Given the description of an element on the screen output the (x, y) to click on. 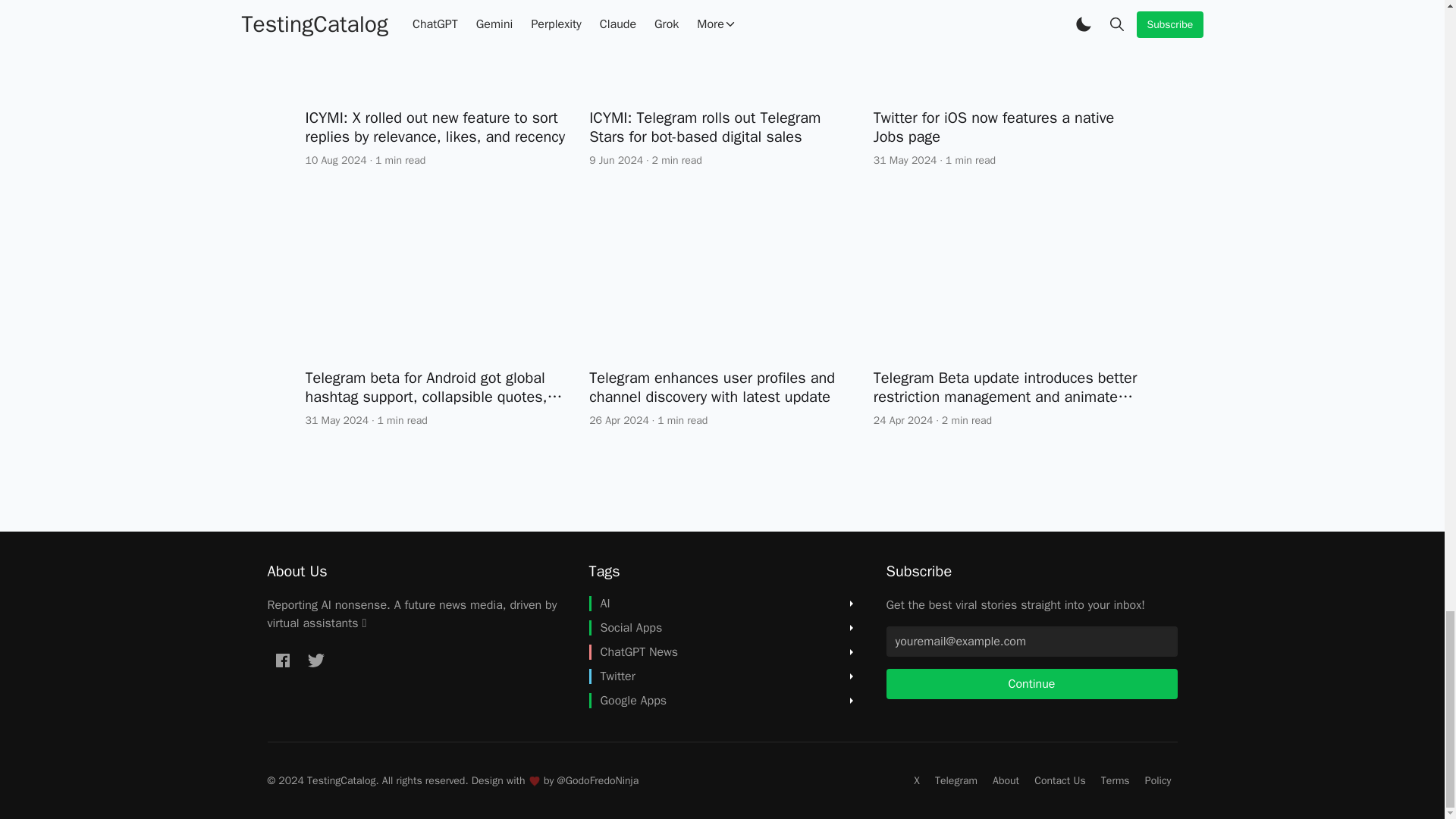
1 min read (400, 160)
Updated 10 Aug 2024 (335, 160)
Updated 9 Jun 2024 (616, 160)
